Given the description of an element on the screen output the (x, y) to click on. 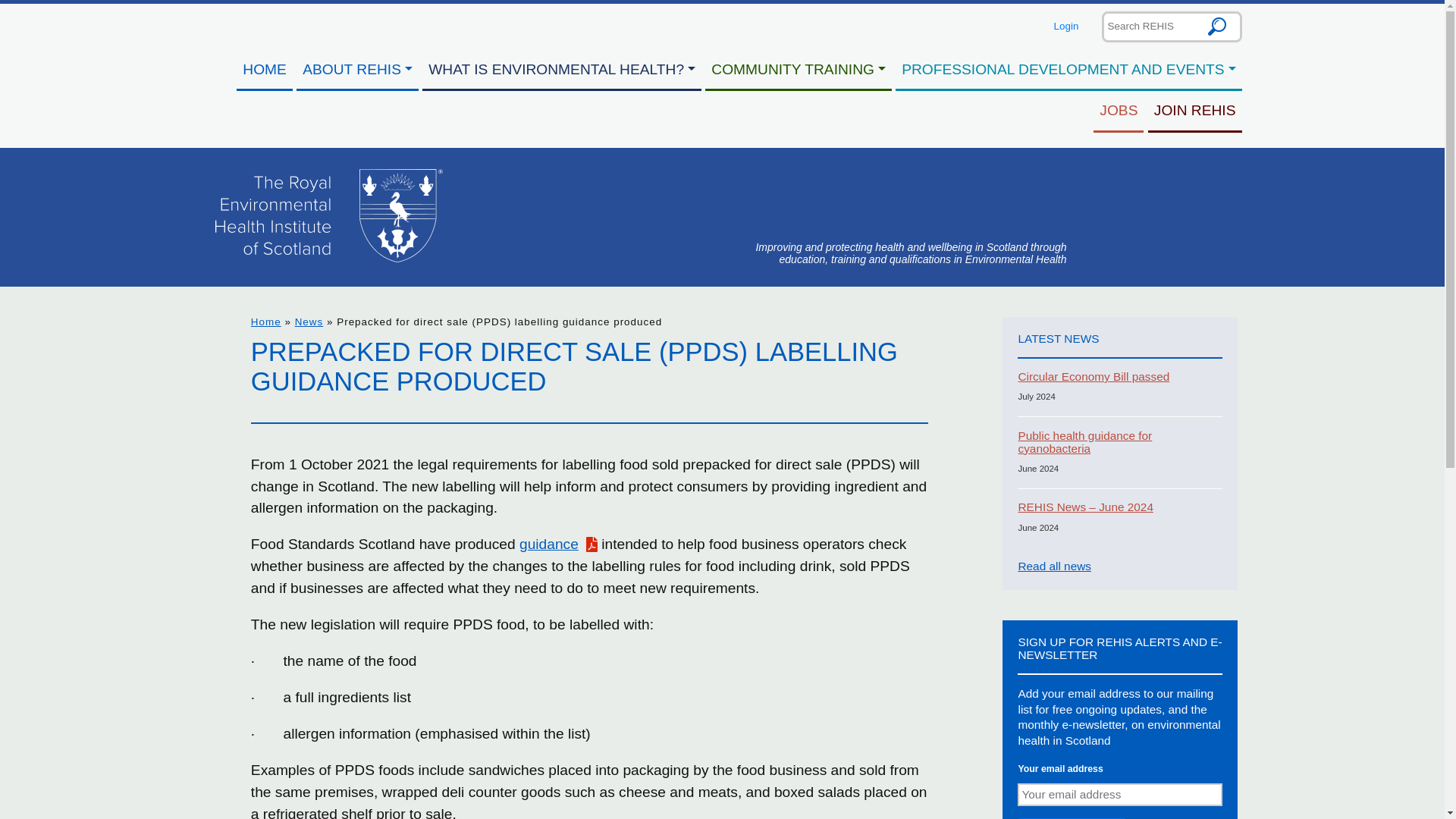
ABOUT REHIS (358, 70)
What is Environmental Health? (561, 70)
Home (263, 70)
Search REHIS (1170, 26)
JOBS (1117, 111)
Search (1217, 26)
About REHIS (358, 70)
HOME (263, 70)
PROFESSIONAL DEVELOPMENT AND EVENTS (1068, 70)
Login (1066, 26)
COMMUNITY TRAINING (797, 70)
Search (1217, 26)
WHAT IS ENVIRONMENTAL HEALTH? (561, 70)
